Given the description of an element on the screen output the (x, y) to click on. 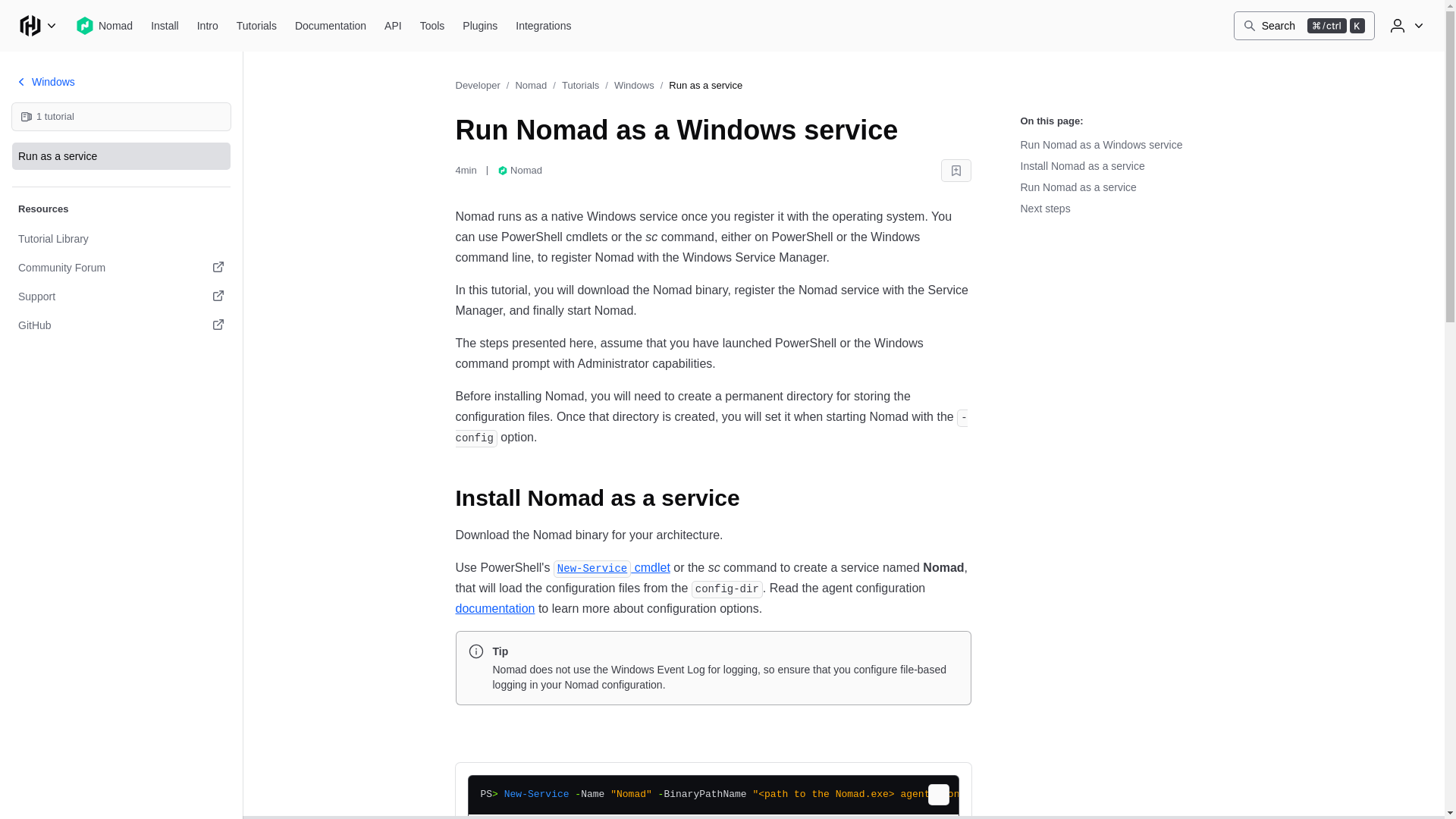
Nomad (103, 25)
GitHub (120, 325)
Developer (476, 85)
Nomad (531, 85)
Windows (633, 85)
Intro (207, 25)
Documentation (330, 25)
New-Service cmdlet (611, 567)
Install (164, 25)
Run as a service (1303, 25)
API (120, 155)
Install Nomad as a service (392, 25)
